Given the description of an element on the screen output the (x, y) to click on. 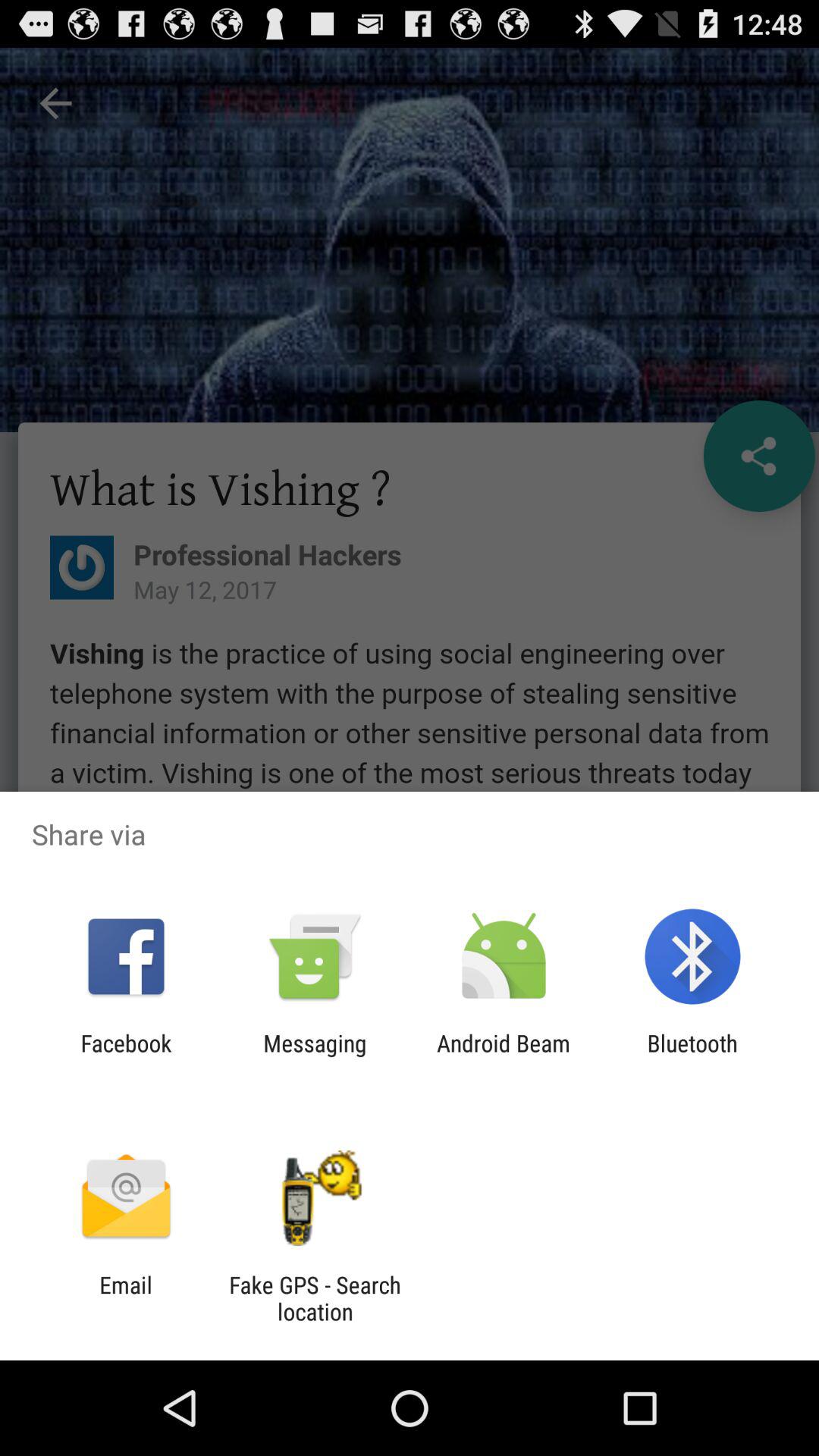
press fake gps search item (314, 1298)
